Given the description of an element on the screen output the (x, y) to click on. 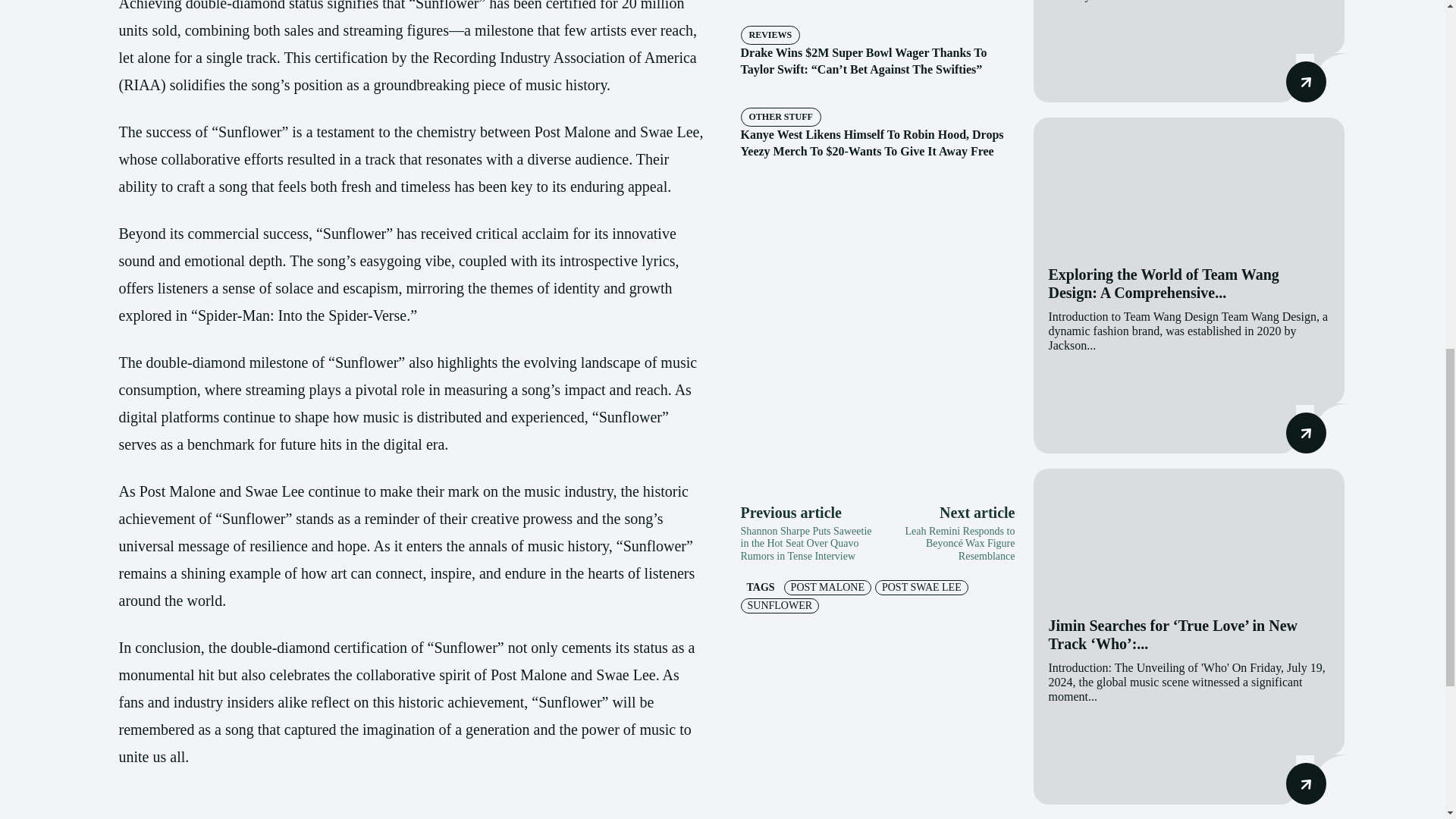
POST MALONE (827, 587)
REVIEWS (769, 34)
OTHER STUFF (780, 116)
